Given the description of an element on the screen output the (x, y) to click on. 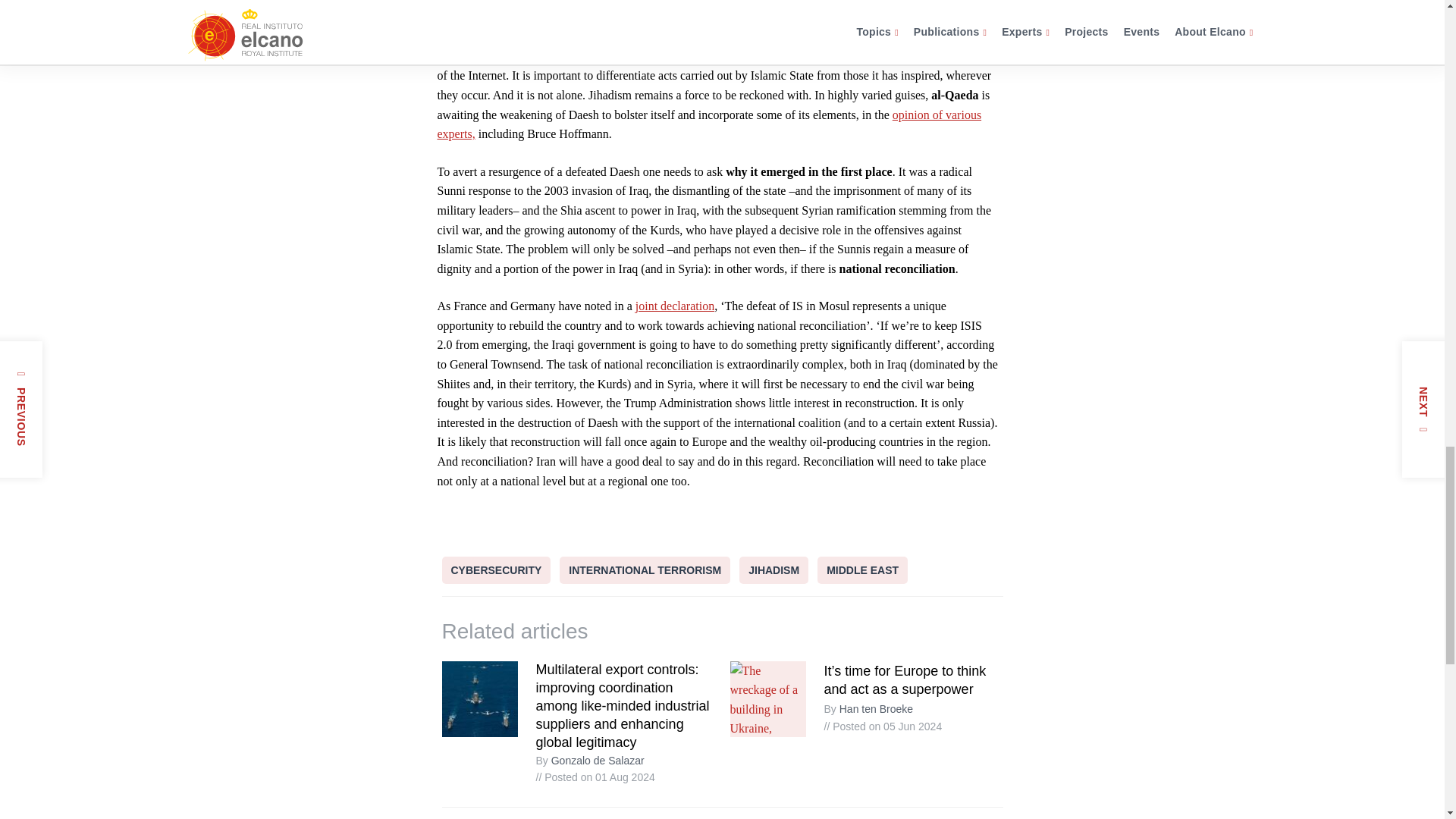
Posted on 05 Jun 2024 (883, 726)
Posted on 01 Aug 2024 (594, 776)
